Given the description of an element on the screen output the (x, y) to click on. 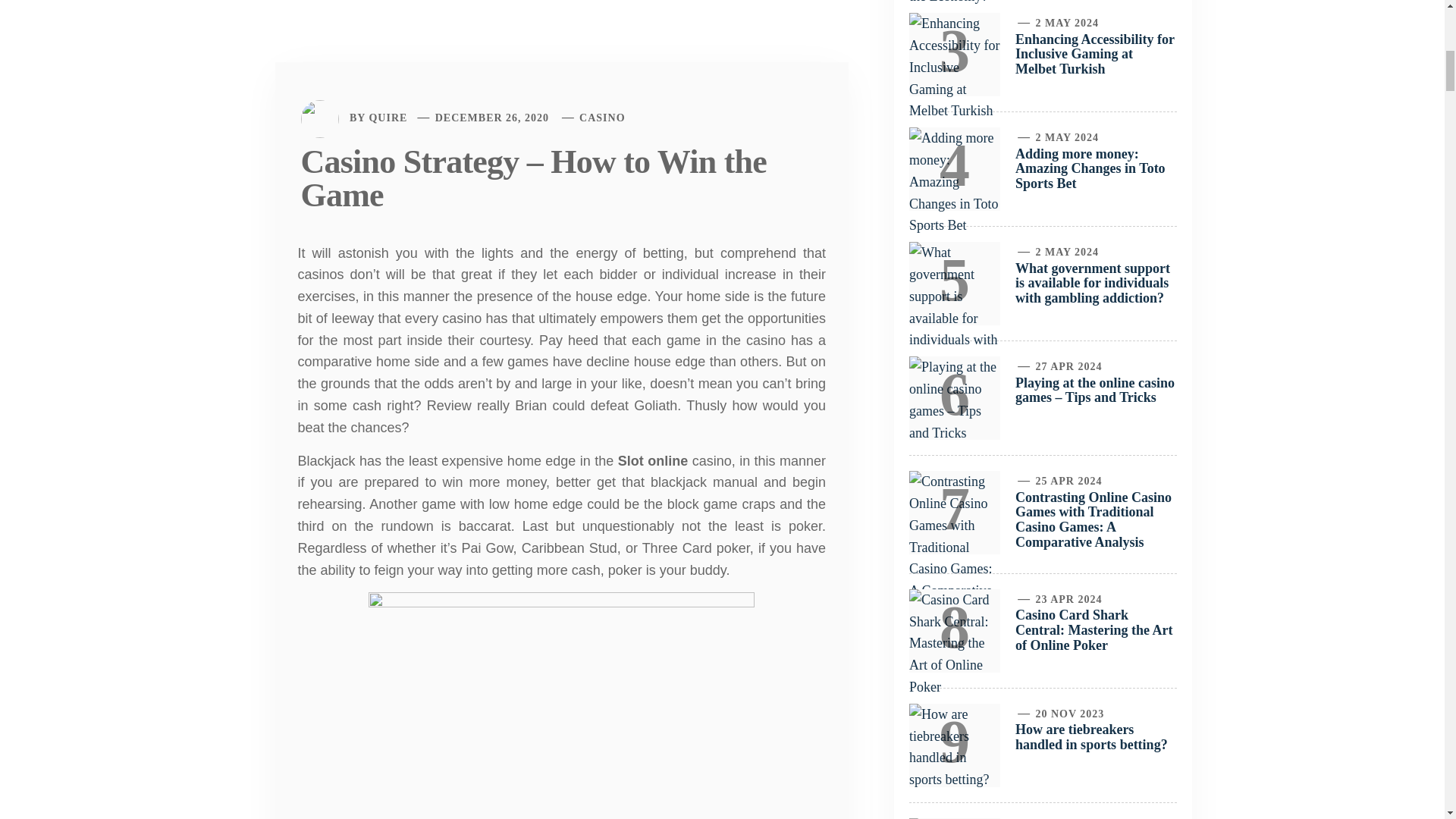
QUIRE (387, 117)
DECEMBER 26, 2020 (491, 117)
Slot online (652, 460)
CASINO (601, 117)
